Given the description of an element on the screen output the (x, y) to click on. 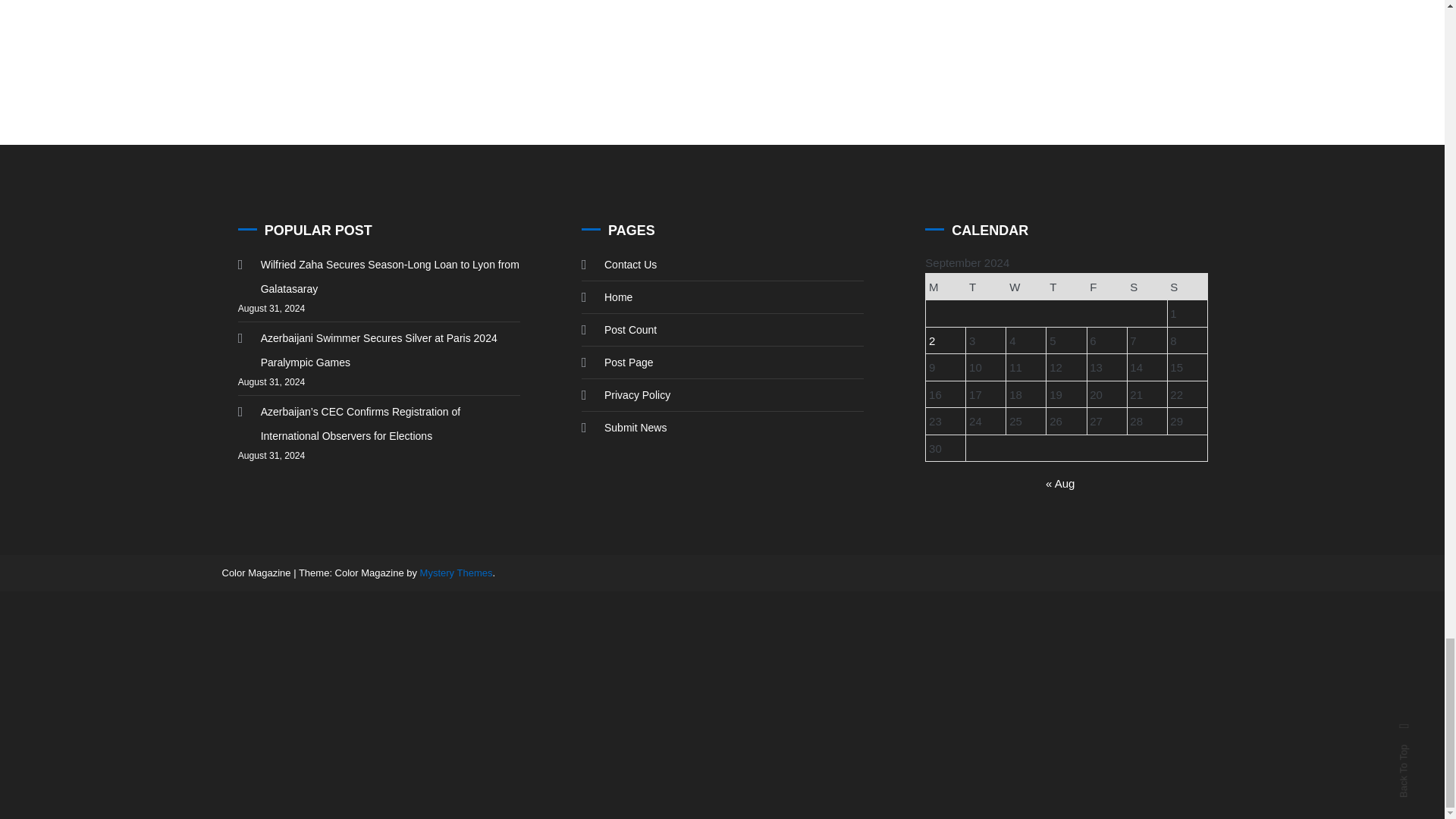
Monday (946, 286)
Advertisement (721, 45)
Tuesday (986, 286)
